Given the description of an element on the screen output the (x, y) to click on. 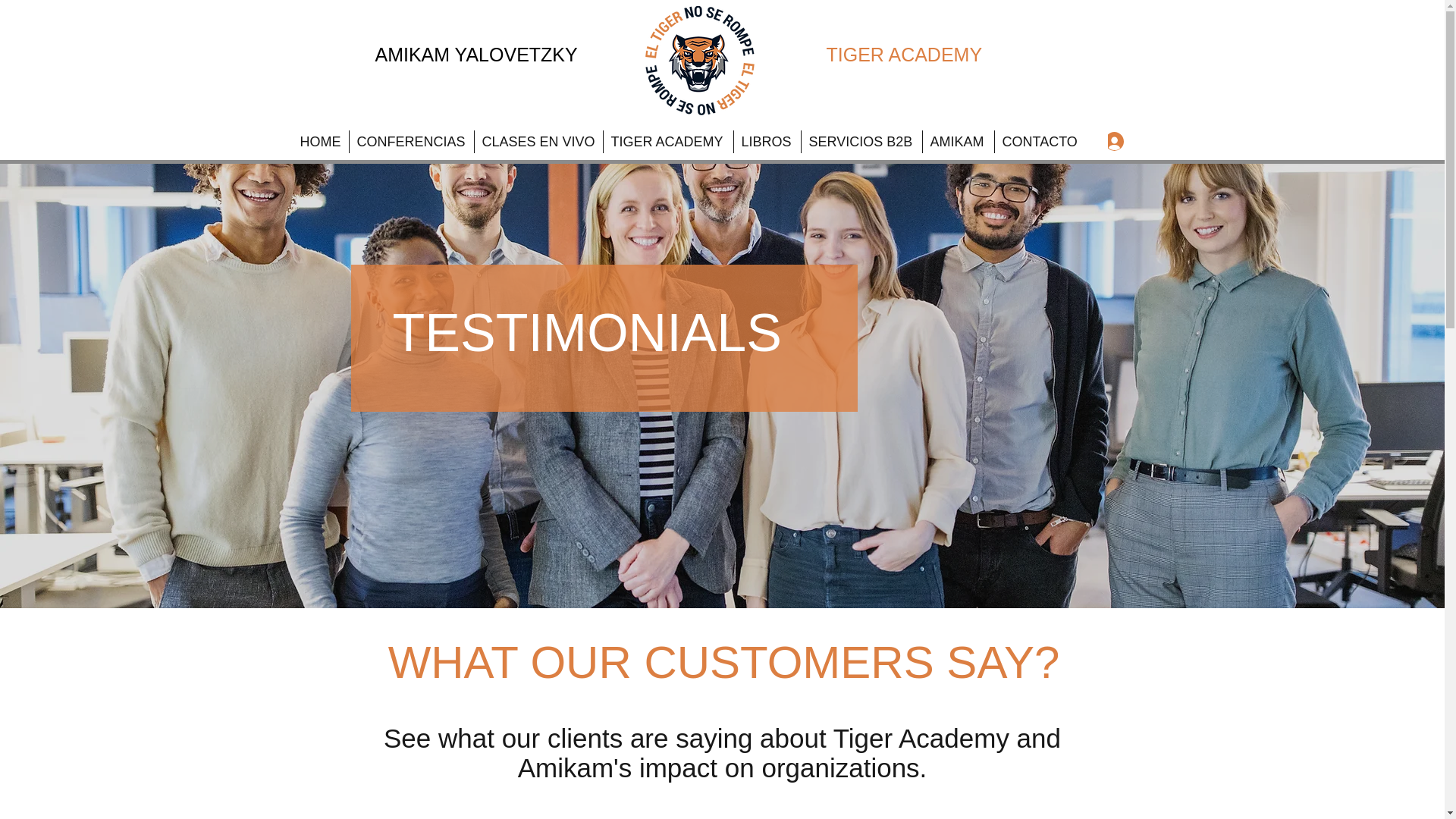
SERVICIOS B2B (860, 141)
CLASES EN VIVO (537, 141)
CONTACTO (1038, 141)
AMIKAM (957, 141)
LIBROS (765, 141)
HOME (320, 141)
TIGER ACADEMY (667, 141)
CONFERENCIAS (411, 141)
